Given the description of an element on the screen output the (x, y) to click on. 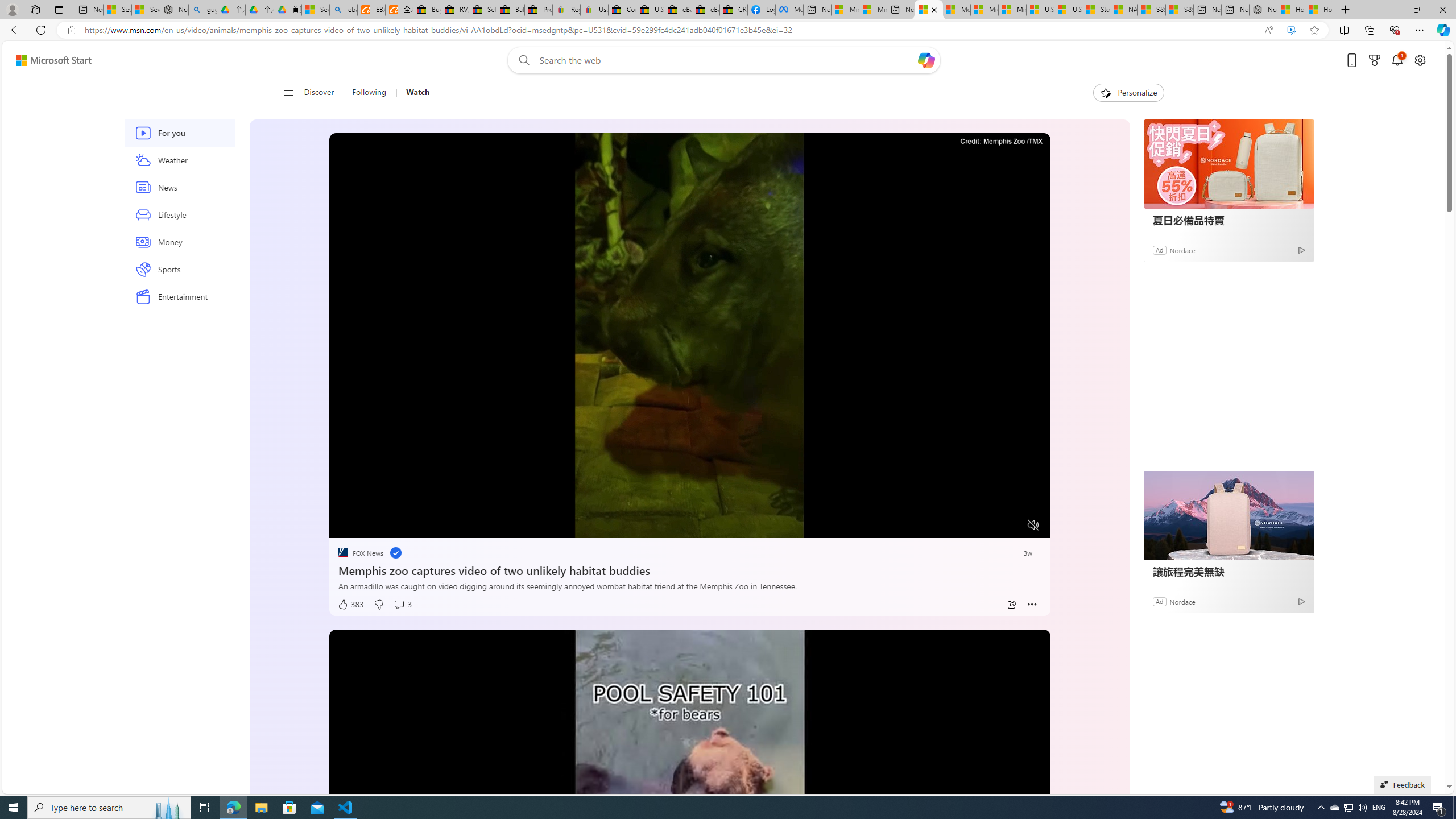
View comments 3 Comment (402, 604)
Seek Forward (391, 525)
Enhance video (1291, 29)
Unmute (1033, 524)
